Given the description of an element on the screen output the (x, y) to click on. 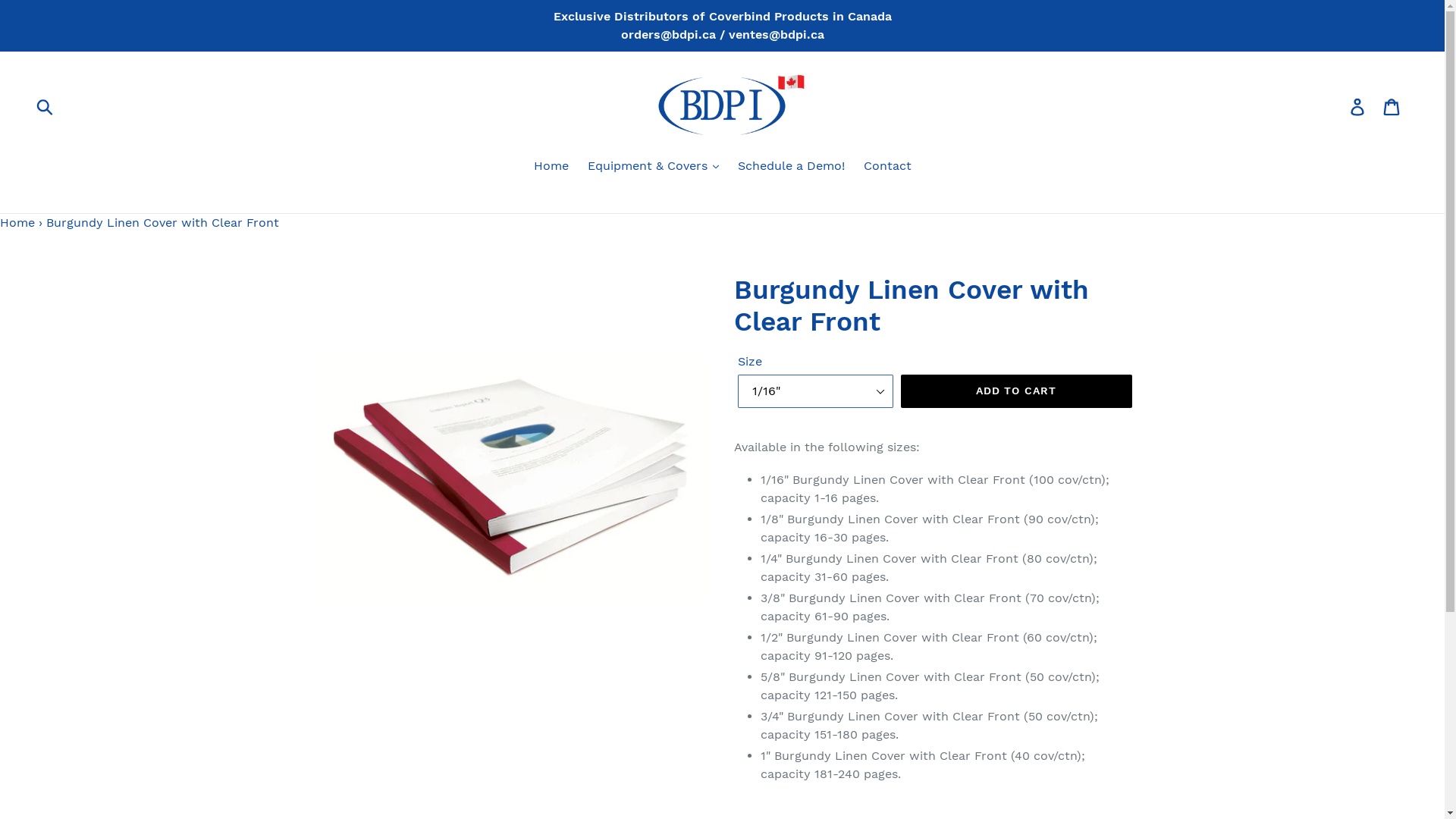
Home Element type: text (17, 222)
Log in Element type: text (1358, 106)
Contact Element type: text (886, 166)
orders@bdpi.ca / ventes@bdpi.ca Element type: text (721, 34)
ADD TO CART Element type: text (1016, 390)
Schedule a Demo! Element type: text (790, 166)
Cart Element type: text (1392, 106)
Home Element type: text (551, 166)
Submit Element type: text (45, 105)
